Given the description of an element on the screen output the (x, y) to click on. 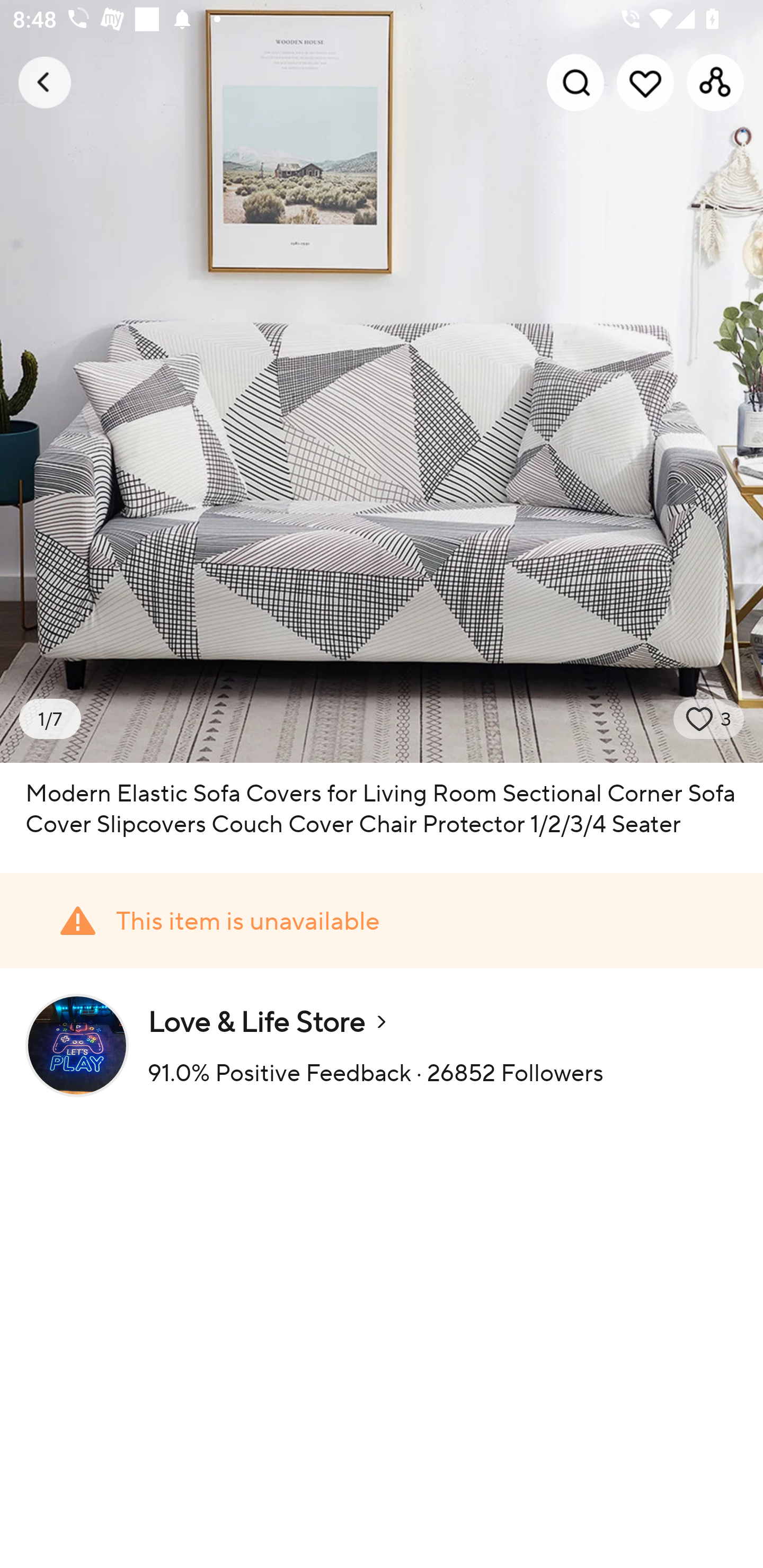
Navigate up (44, 82)
wish state 3 (708, 718)
